Given the description of an element on the screen output the (x, y) to click on. 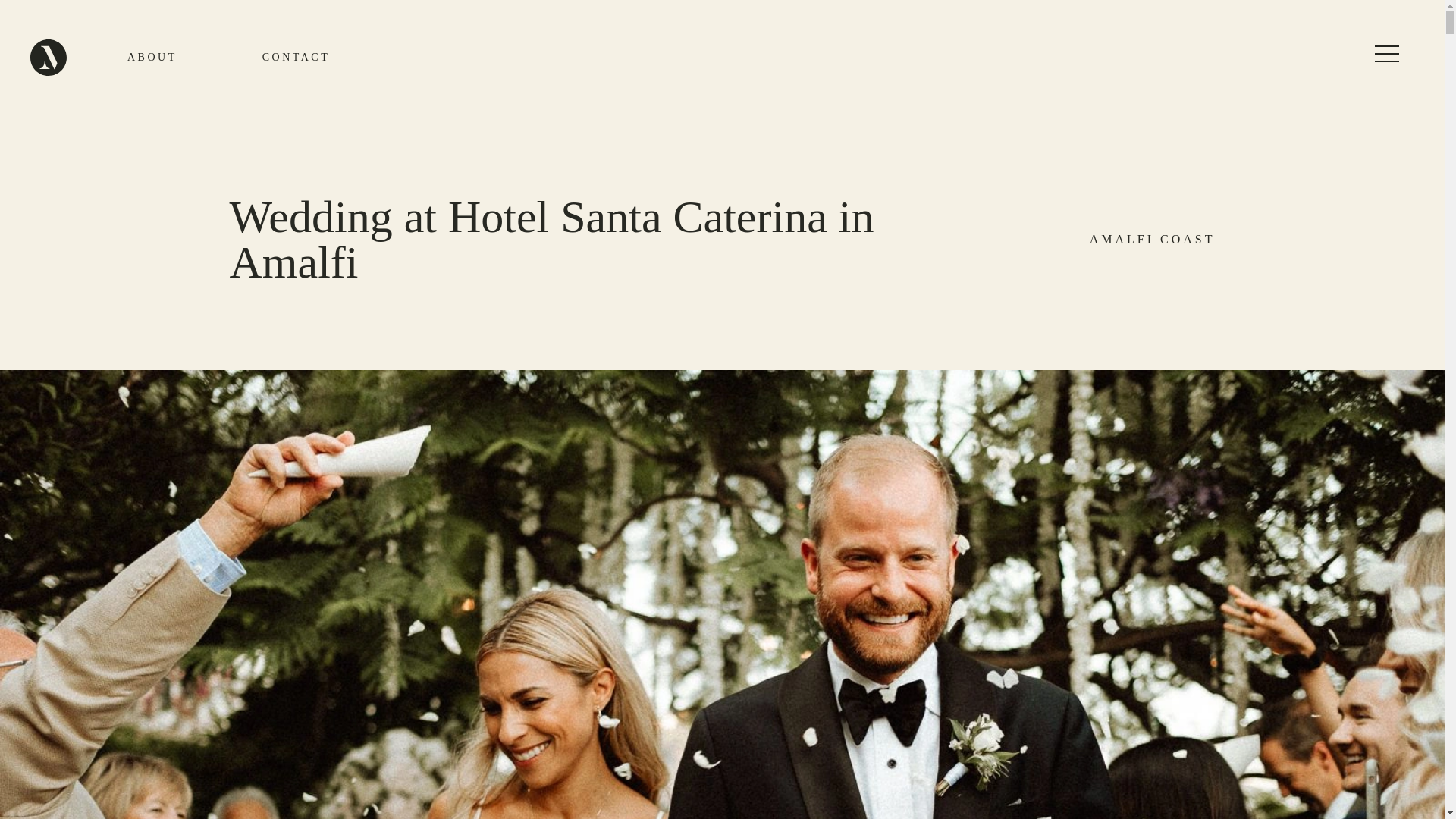
ABOUT (152, 57)
CONTACT (296, 57)
AMALFI COAST (1050, 239)
